Given the description of an element on the screen output the (x, y) to click on. 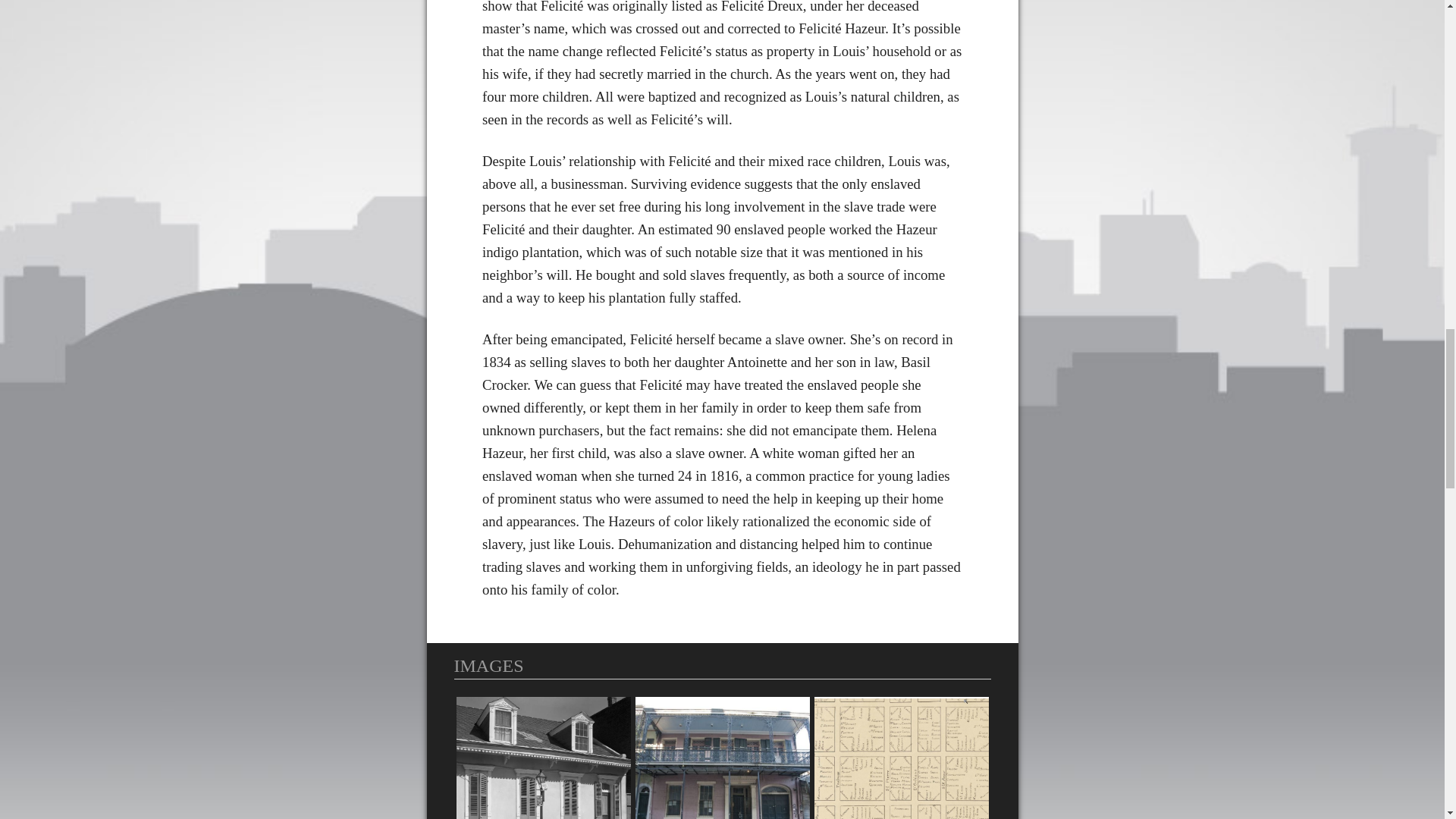
Hazeur Home on Orleans (543, 757)
Map of Hazeur Home in 1808 (900, 757)
Hazeur Home on Bourbon (721, 757)
